Given the description of an element on the screen output the (x, y) to click on. 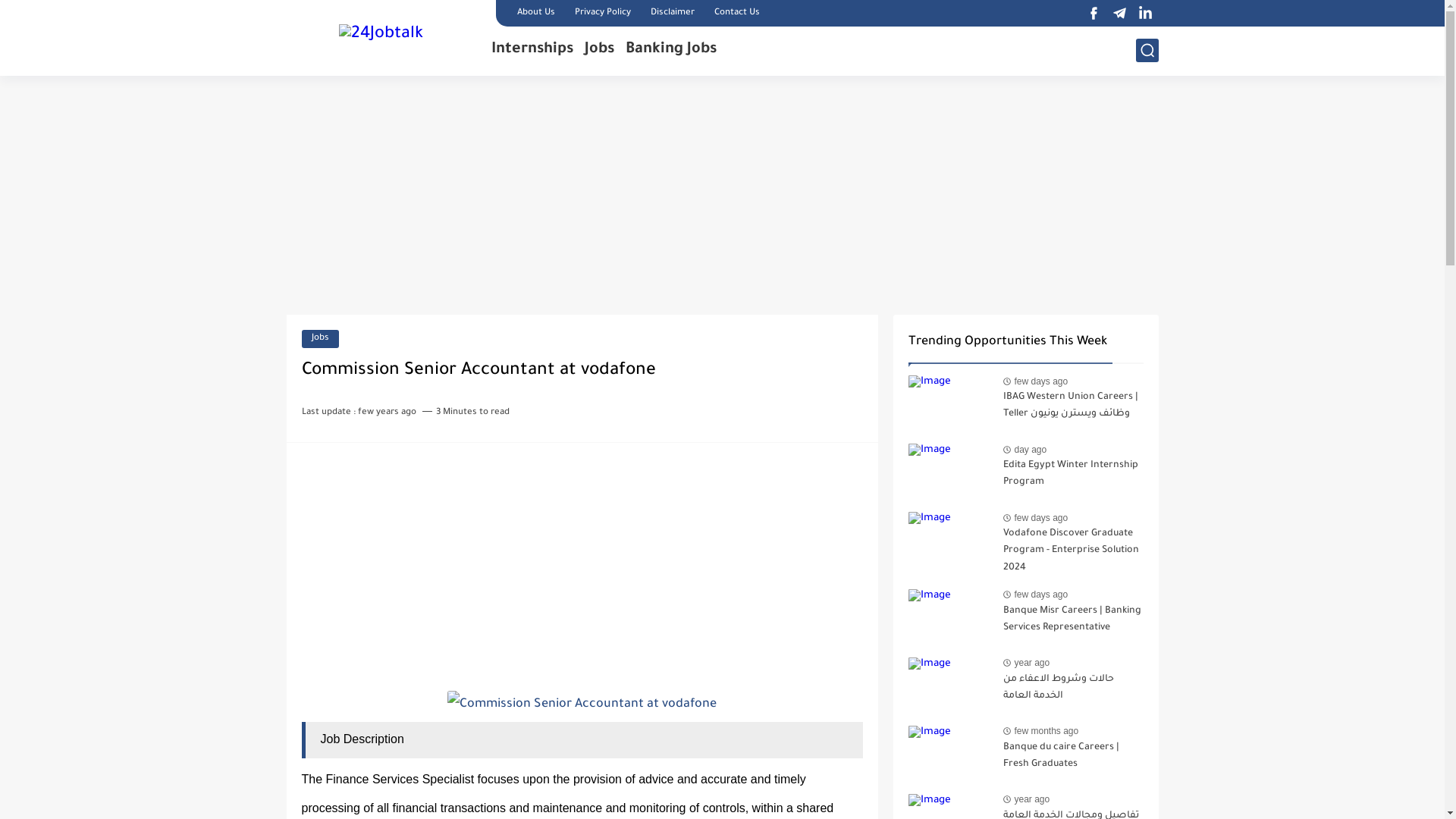
few days ago Element type: text (1041, 594)
Image Element type: hover (949, 471)
Image Element type: hover (949, 617)
day ago Element type: text (1030, 449)
Advertisement Element type: hover (722, 197)
Edita Egypt Winter Internship Program Element type: text (1072, 476)
Image Element type: hover (949, 539)
Privacy Policy Element type: text (602, 12)
Banque du caire Careers | Fresh Graduates Element type: text (1072, 758)
few days ago Element type: text (1041, 381)
Disclaimer Element type: text (672, 12)
Contact Us Element type: text (736, 12)
year ago Element type: text (1032, 662)
Internships Element type: text (532, 49)
About Us Element type: text (536, 12)
Image Element type: hover (949, 685)
Banking Jobs Element type: text (669, 49)
Advertisement Element type: hover (581, 564)
facebook Element type: hover (1093, 13)
few days ago Element type: text (1041, 517)
few months ago Element type: text (1046, 730)
Image Element type: hover (949, 753)
telegram Element type: hover (1119, 13)
Jobs Element type: text (319, 338)
Banque Misr Careers | Banking Services Representative Element type: text (1072, 622)
linkedin Element type: hover (1144, 13)
Image Element type: hover (949, 403)
Jobs Element type: text (598, 49)
24Jobtalk Element type: hover (380, 35)
year ago Element type: text (1032, 798)
Commission Senior Accountant at vodafone Element type: hover (581, 703)
